Given the description of an element on the screen output the (x, y) to click on. 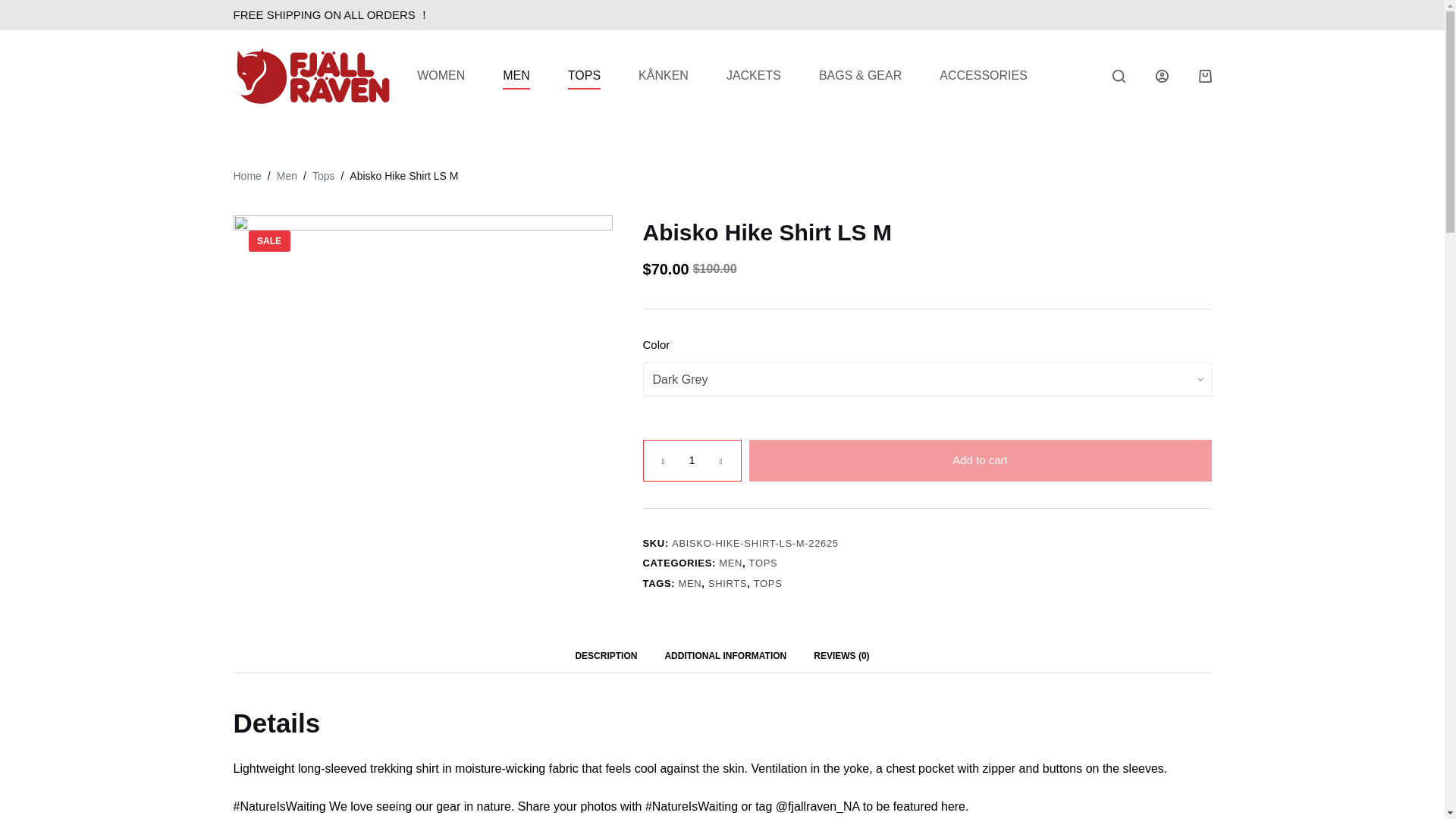
Men (286, 176)
1 (692, 460)
TOPS (584, 75)
MEN (515, 75)
JACKETS (753, 75)
Shopping cart (1204, 75)
ACCESSORIES (983, 75)
WOMEN (440, 75)
Home (247, 176)
Tops (323, 176)
Skip to content (15, 7)
